Given the description of an element on the screen output the (x, y) to click on. 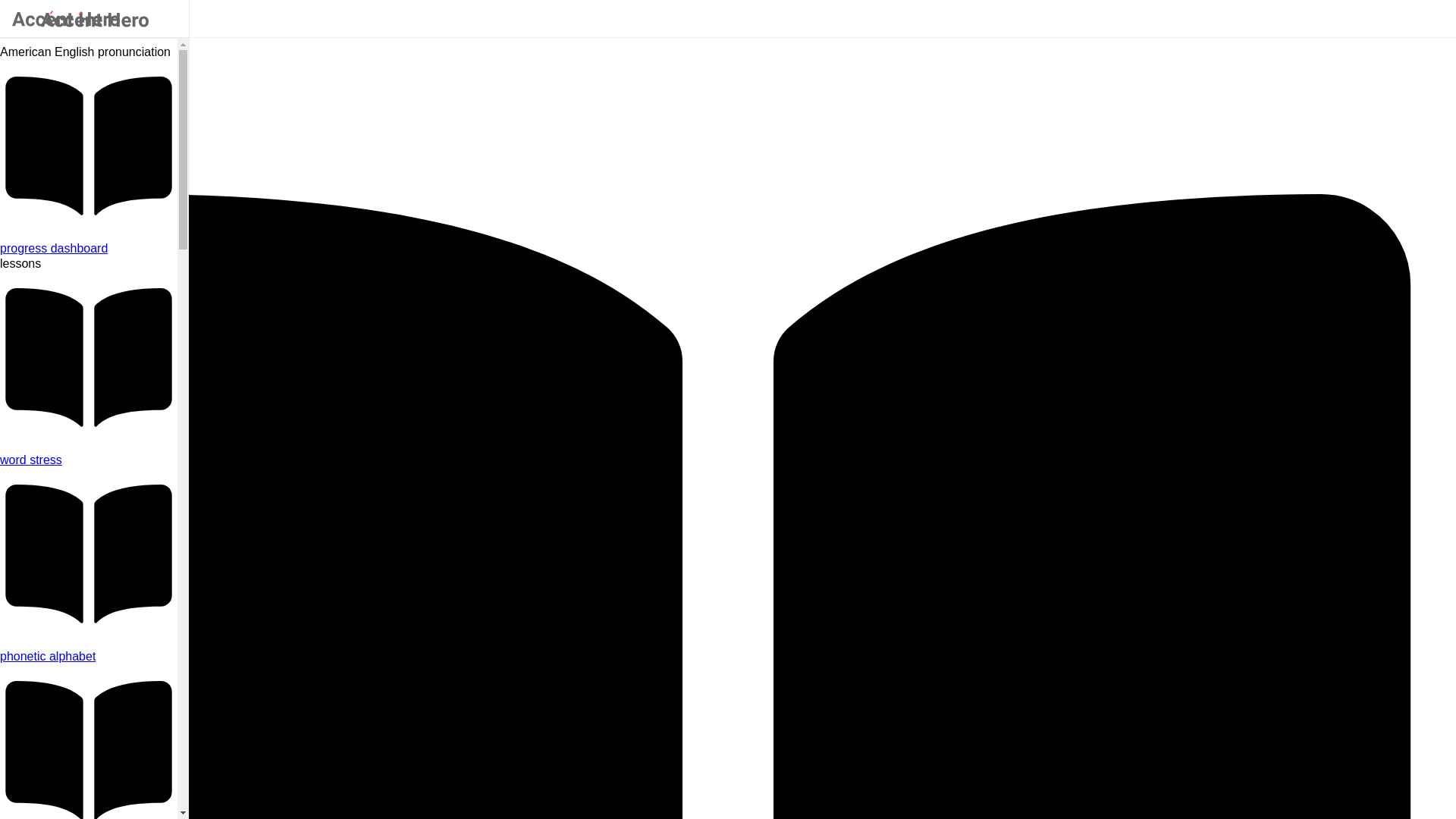
Learn how word stress influences your accent (88, 459)
Learn to precisely articulate each sound (88, 656)
